Given the description of an element on the screen output the (x, y) to click on. 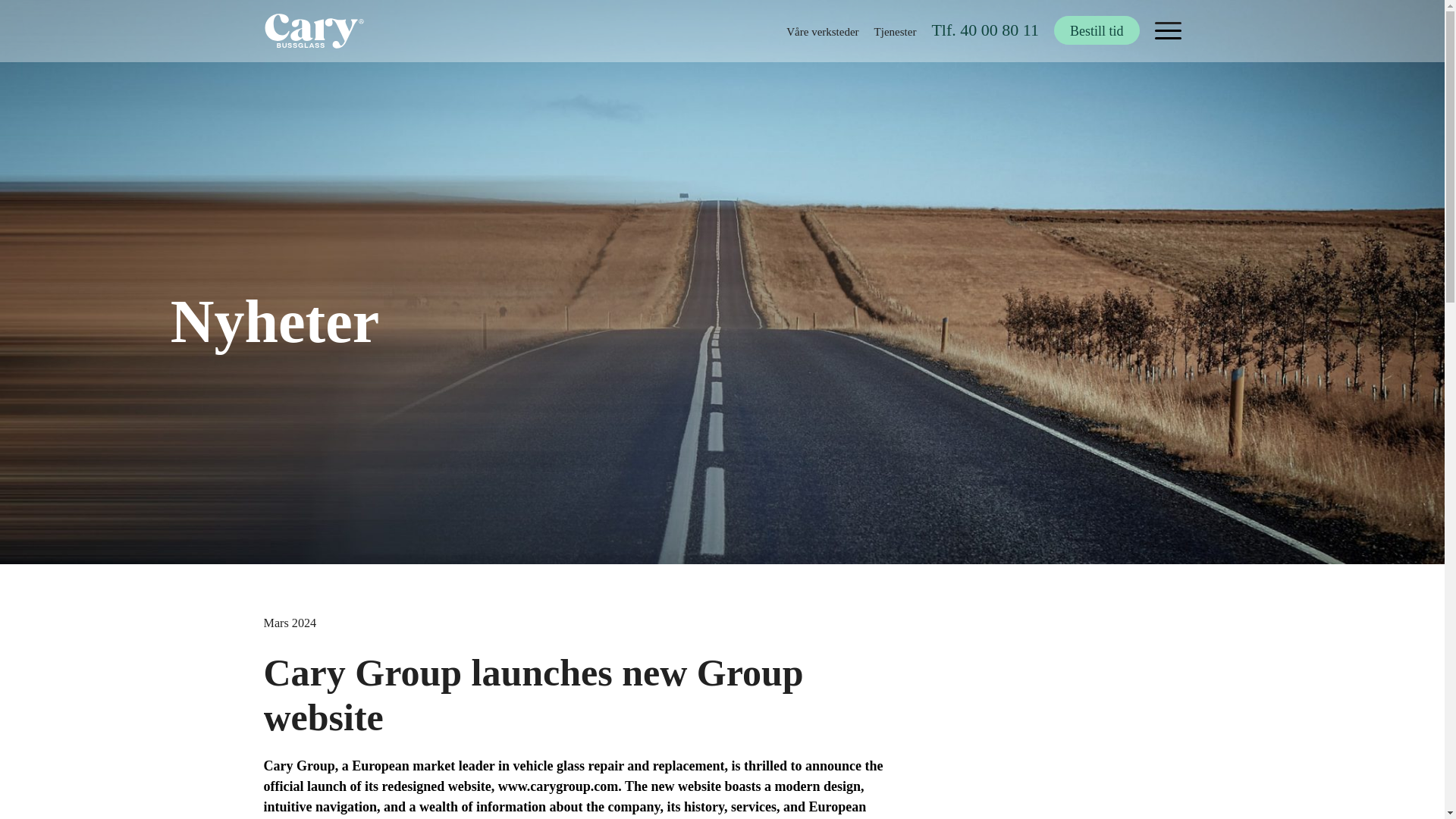
Tlf. 40 00 80 11 (985, 29)
Bestill tid (1097, 30)
Tjenester (896, 31)
